Given the description of an element on the screen output the (x, y) to click on. 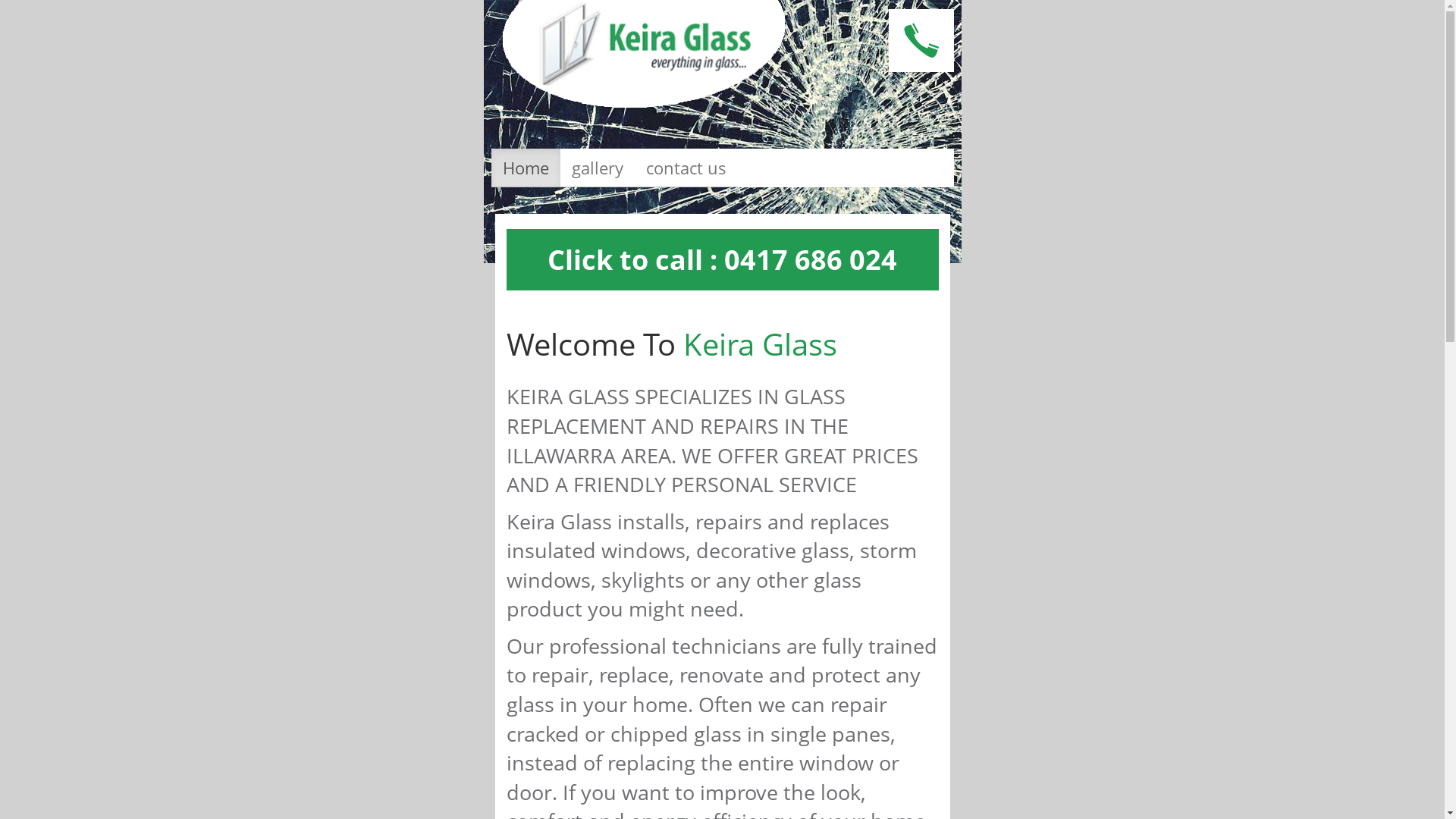
Keira Glass Element type: hover (643, 53)
contact us Element type: text (685, 167)
Home Element type: text (525, 167)
gallery Element type: text (596, 167)
Click to call : 0417 686 024 Element type: text (722, 259)
